Given the description of an element on the screen output the (x, y) to click on. 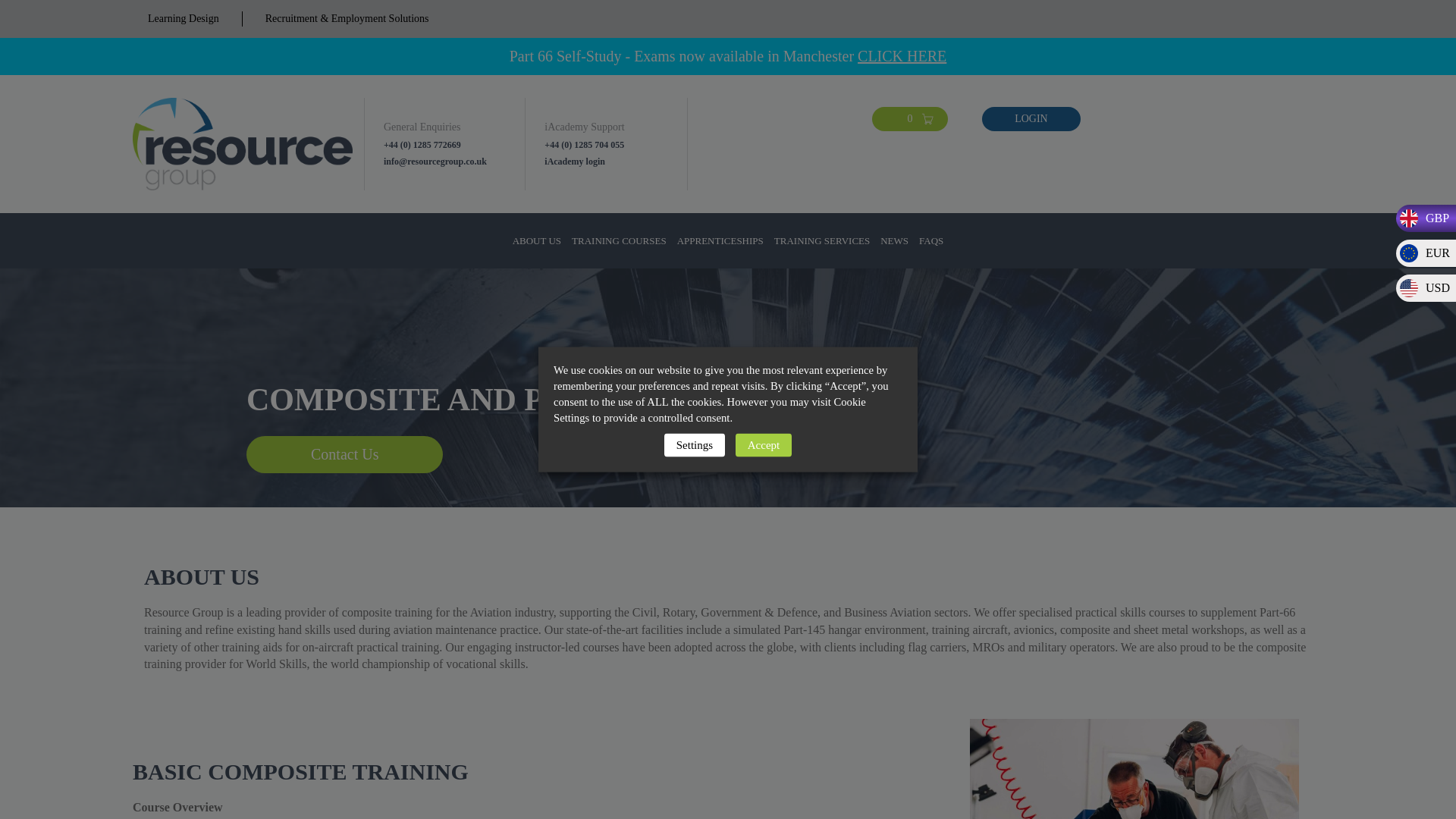
iAcademy login (614, 161)
APPRENTICESHIPS (719, 240)
TRAINING COURSES (619, 240)
LOGIN (1030, 119)
TRAINING SERVICES (821, 240)
ABOUT US (536, 240)
CLICK HERE (901, 55)
0 (909, 119)
Learning Design (183, 18)
